Given the description of an element on the screen output the (x, y) to click on. 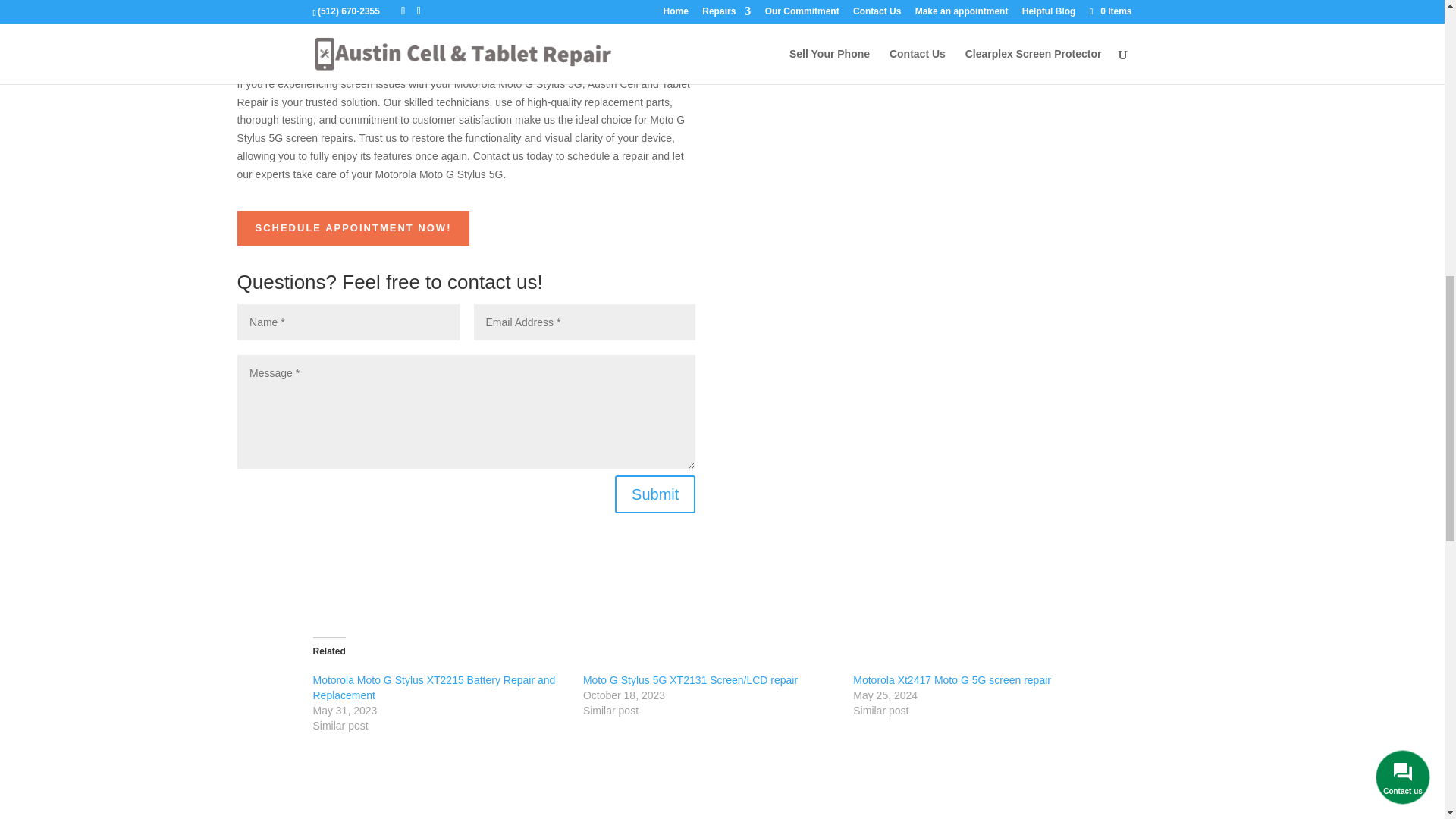
Motorola Xt2417 Moto G 5G screen repair (952, 680)
Motorola Moto G Stylus XT2215 Battery Repair and Replacement (433, 687)
